Given the description of an element on the screen output the (x, y) to click on. 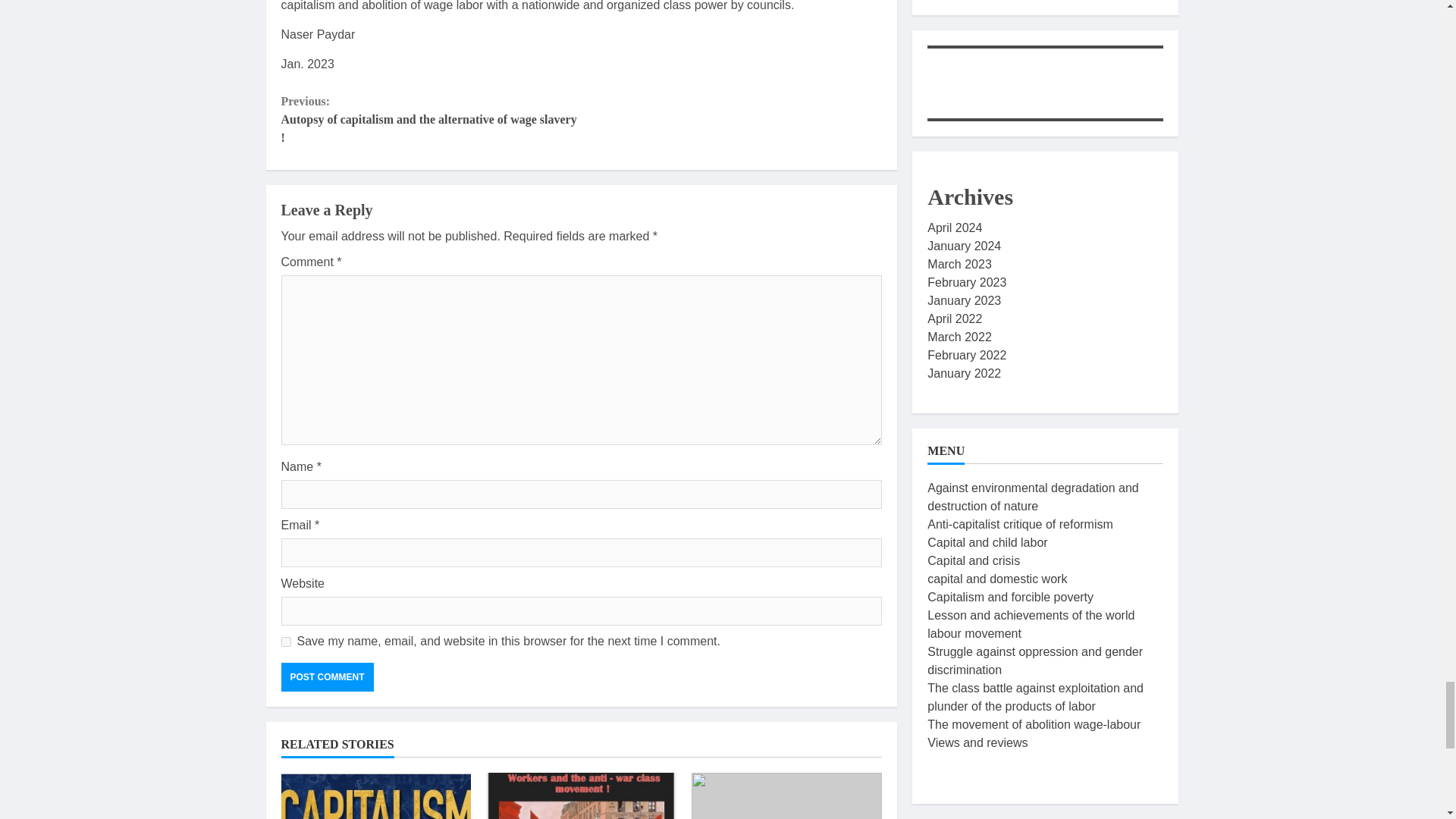
Post Comment (326, 676)
Post Comment (326, 676)
Autopsy of capitalism and the alternative of wage slavery ! (375, 796)
yes (285, 642)
